Given the description of an element on the screen output the (x, y) to click on. 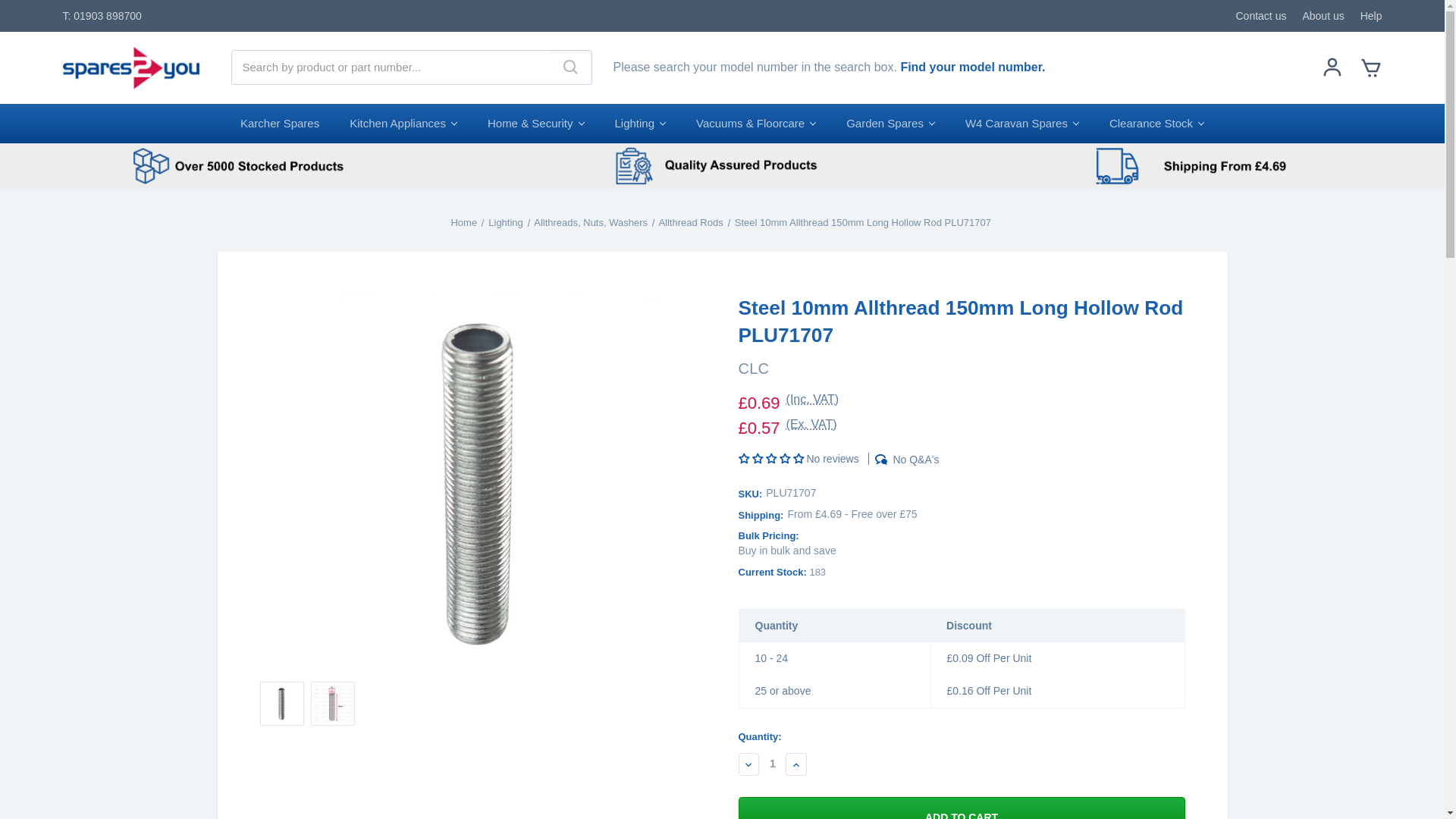
Help (1370, 15)
Steel 10mm Allthread 150mm Long Hollow Rod PLU71707 (280, 703)
Excluding Tax (811, 427)
spares2you (130, 67)
Kitchen Appliances (402, 124)
Contact us (1261, 15)
Steel 10mm Allthread 150mm Long Hollow Rod PLU71707 (333, 703)
Find your model number. (972, 66)
Add to Cart (960, 808)
Karcher Spares (279, 124)
1 (772, 764)
About us (1322, 15)
Including Tax (813, 402)
